Given the description of an element on the screen output the (x, y) to click on. 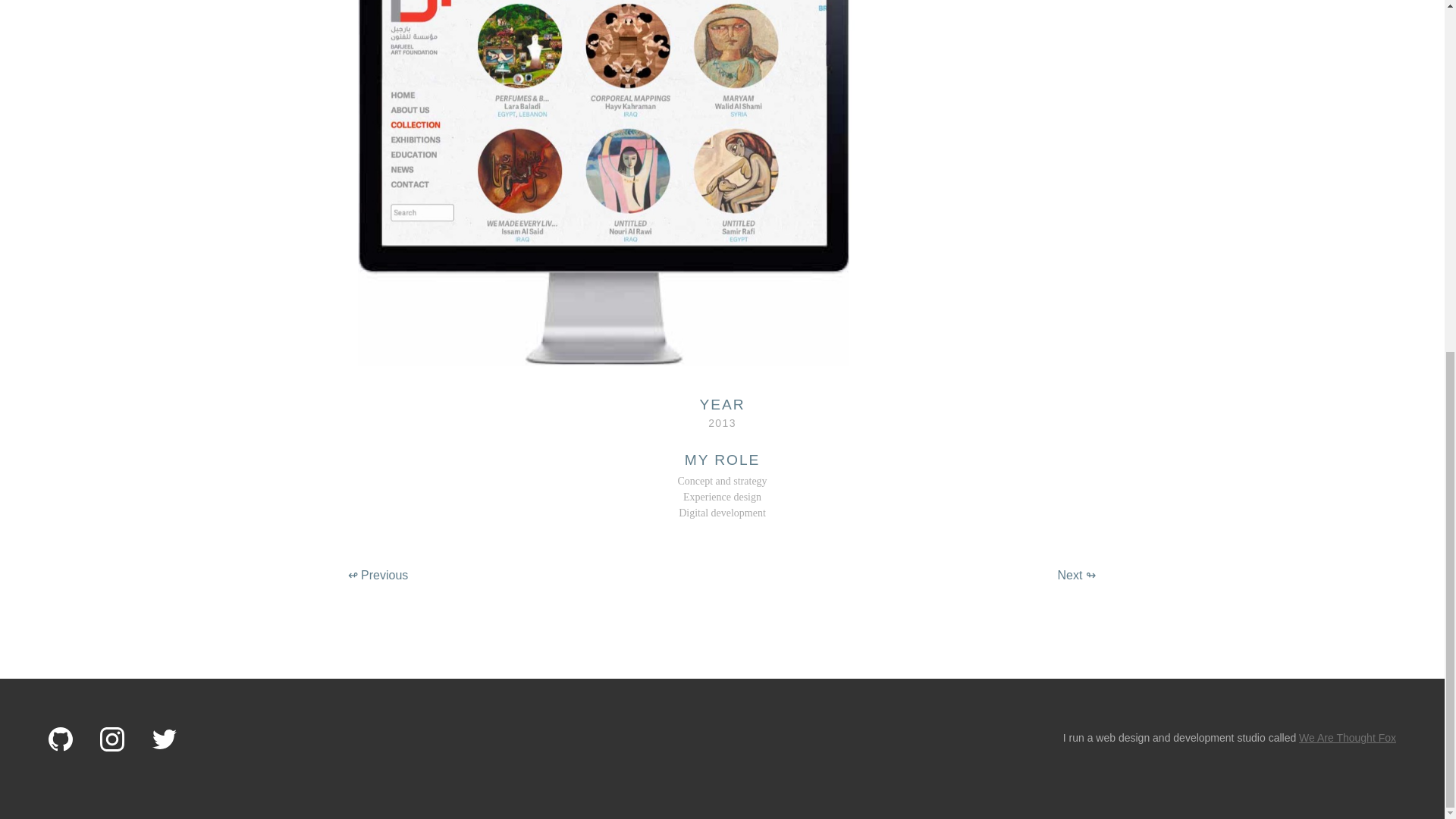
Instagram (111, 740)
Twitter (164, 740)
GitHub (60, 740)
We Are Thought Fox (1347, 737)
